Given the description of an element on the screen output the (x, y) to click on. 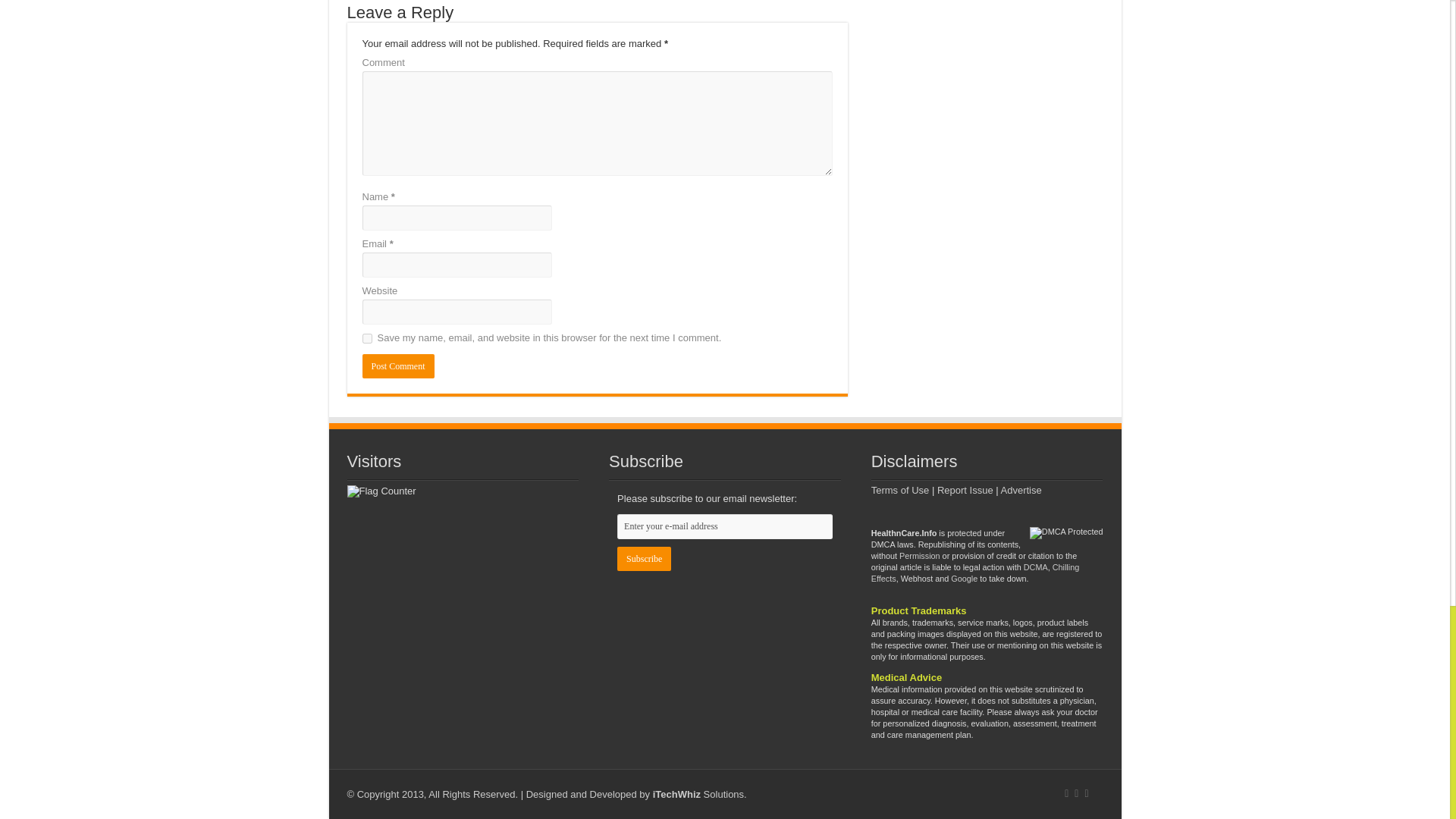
yes (367, 338)
Subscribe (644, 558)
Enter your e-mail address (724, 526)
Post Comment (397, 365)
